Given the description of an element on the screen output the (x, y) to click on. 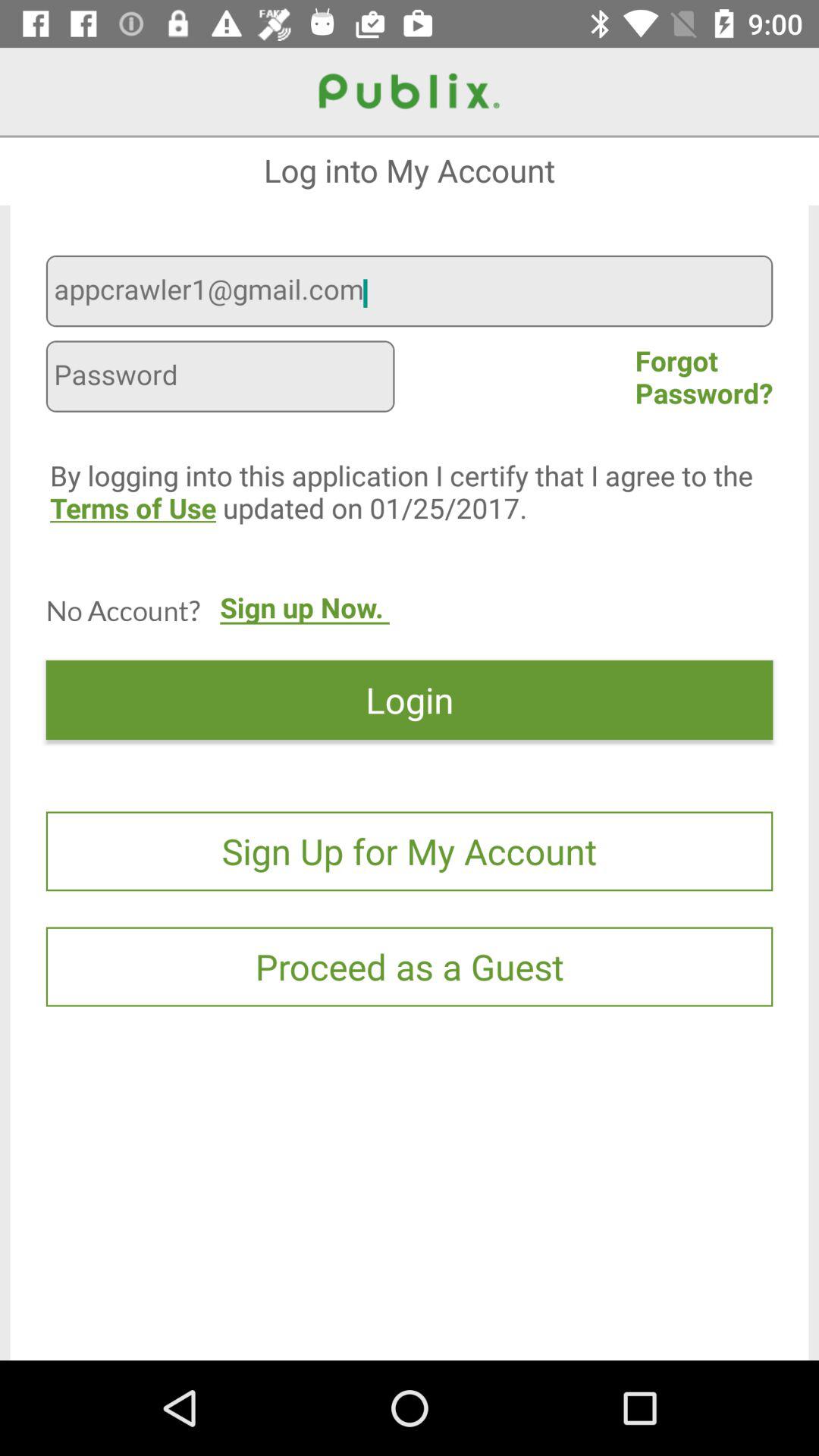
flip until the forgot
password? icon (703, 376)
